Given the description of an element on the screen output the (x, y) to click on. 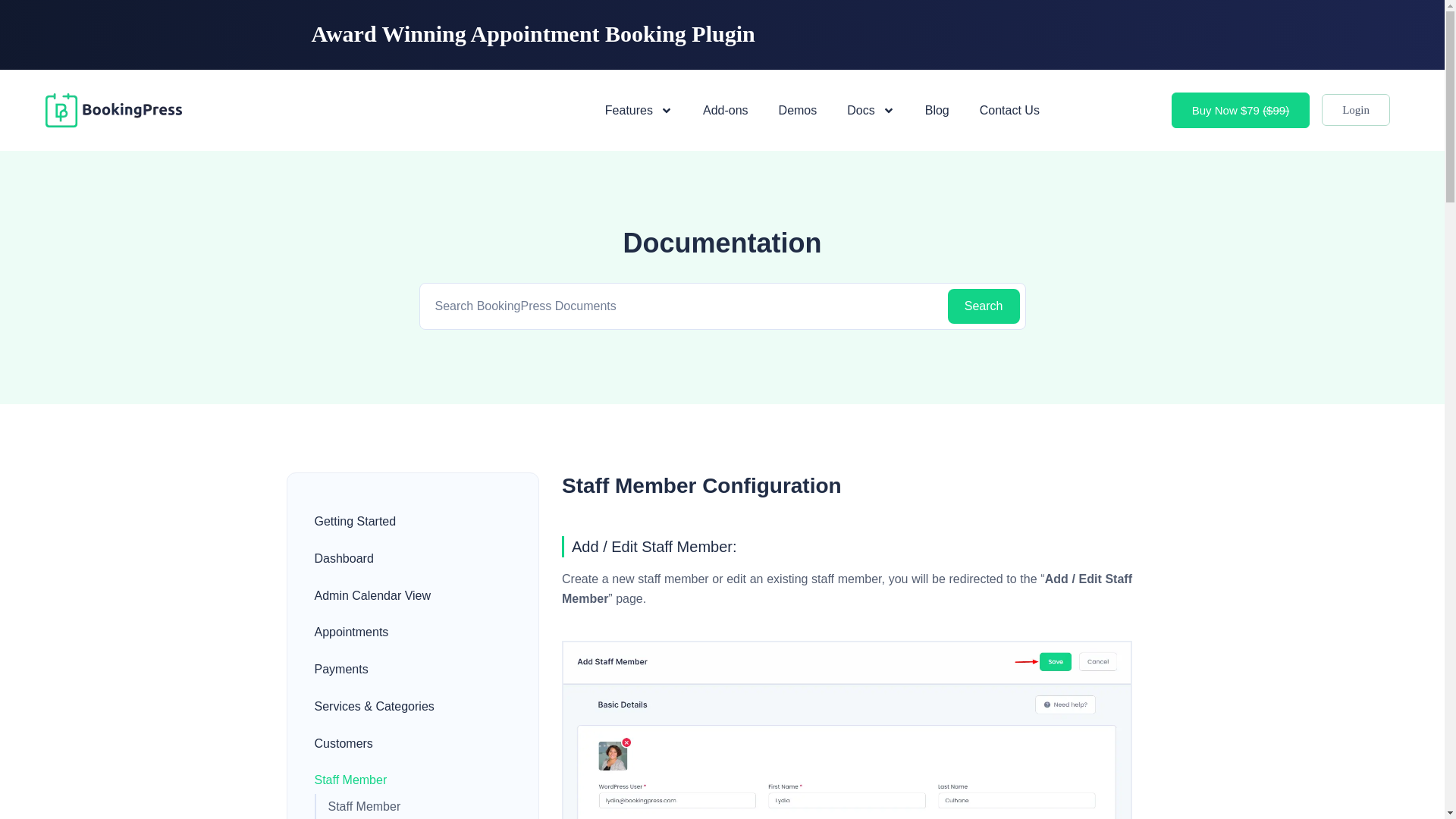
Dashboard (411, 558)
Admin Calendar View (411, 596)
Contact Us (1008, 109)
BookingPress Plugin (113, 109)
Login (1356, 110)
Getting Started (411, 521)
Search (983, 306)
Search (983, 306)
Docs (869, 109)
Add-ons (724, 109)
Features (638, 109)
Appointments (411, 632)
Search (983, 306)
